Given the description of an element on the screen output the (x, y) to click on. 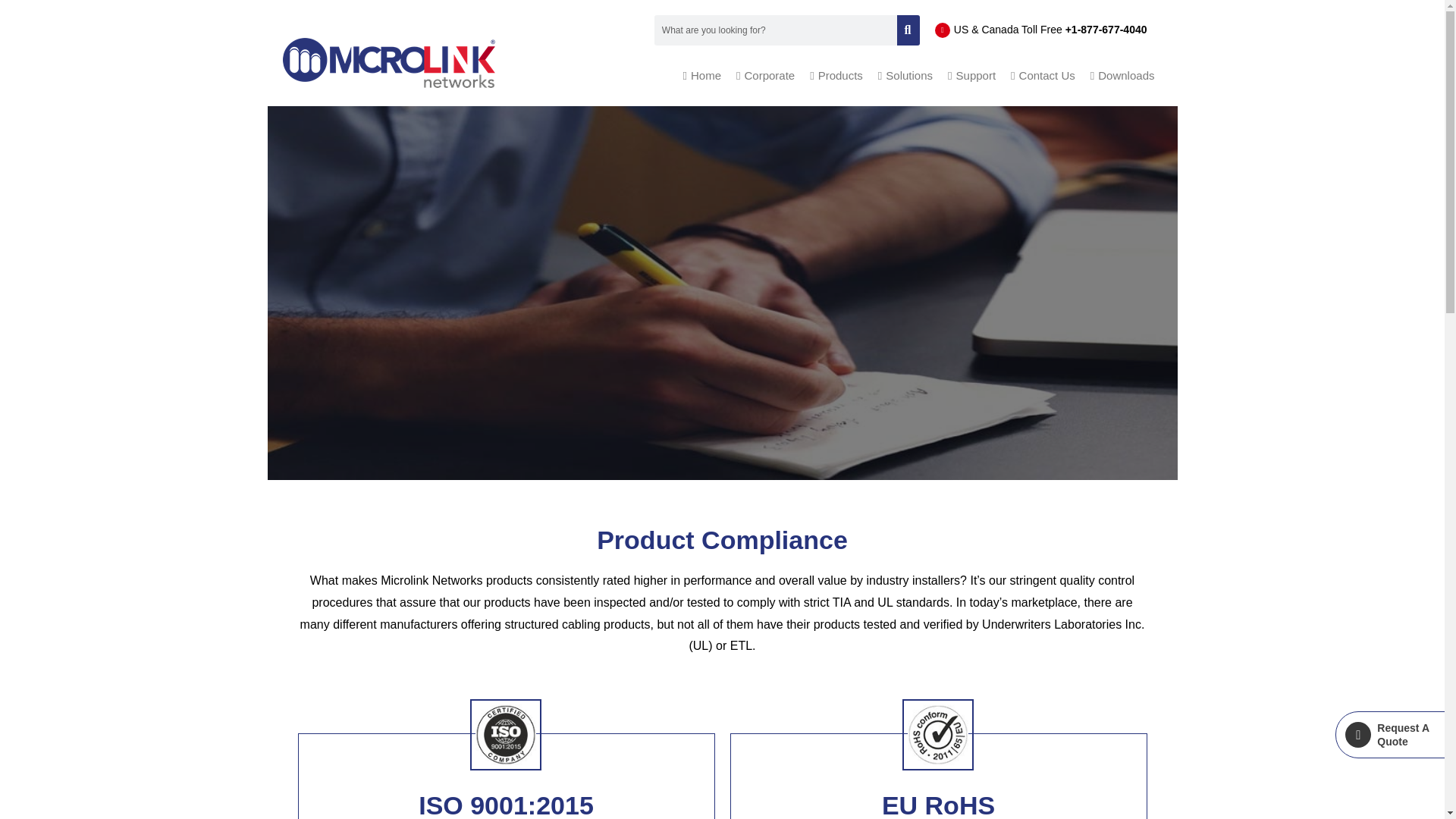
Home (702, 75)
Products (836, 75)
Corporate (765, 75)
Support (971, 75)
Solutions (905, 75)
